Given the description of an element on the screen output the (x, y) to click on. 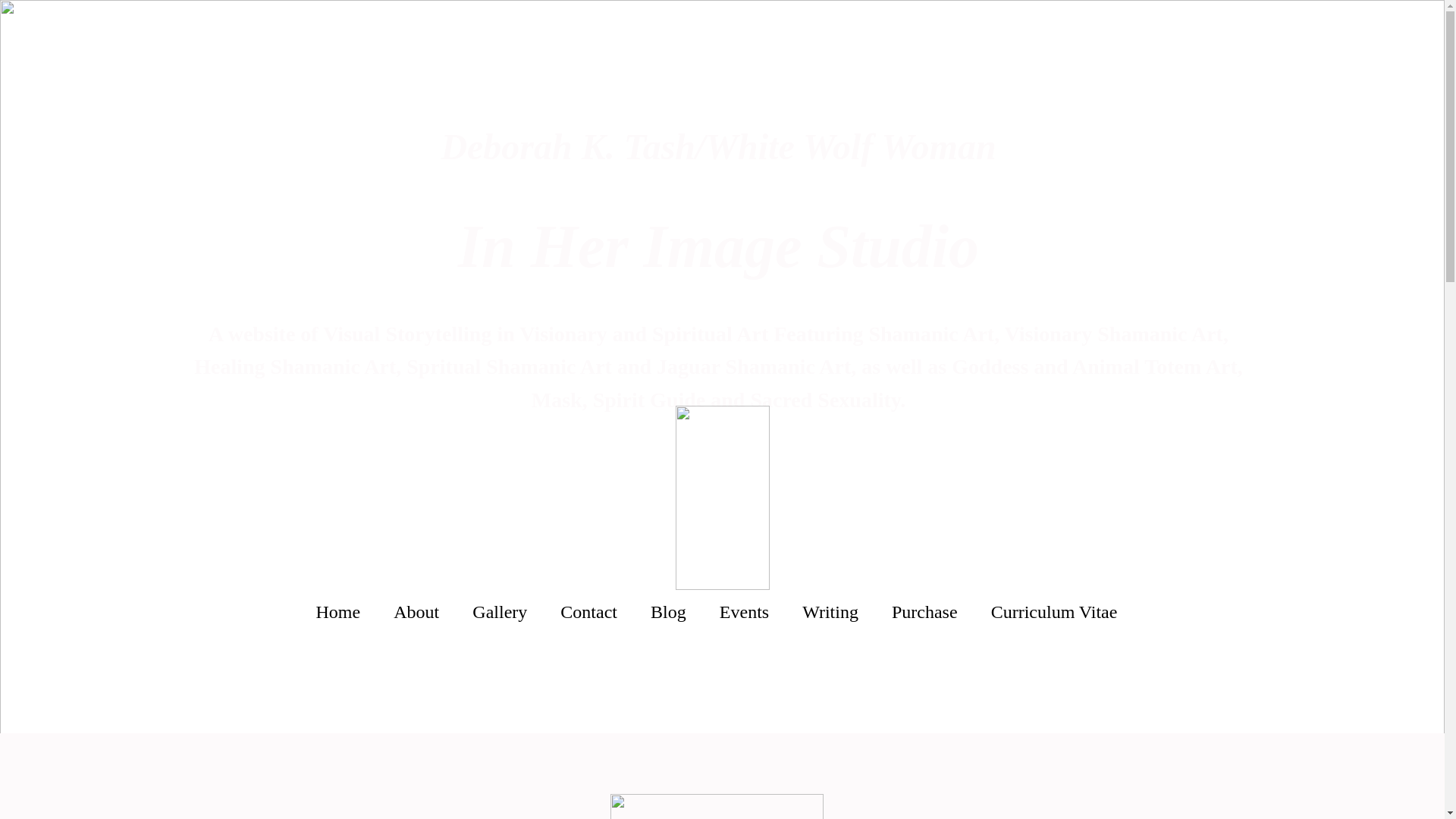
About (416, 612)
Writing (830, 612)
Home (337, 612)
Purchase (924, 612)
Curriculum Vitae (1054, 612)
Events (744, 612)
Gallery (499, 612)
Blog (668, 612)
Contact (588, 612)
